Given the description of an element on the screen output the (x, y) to click on. 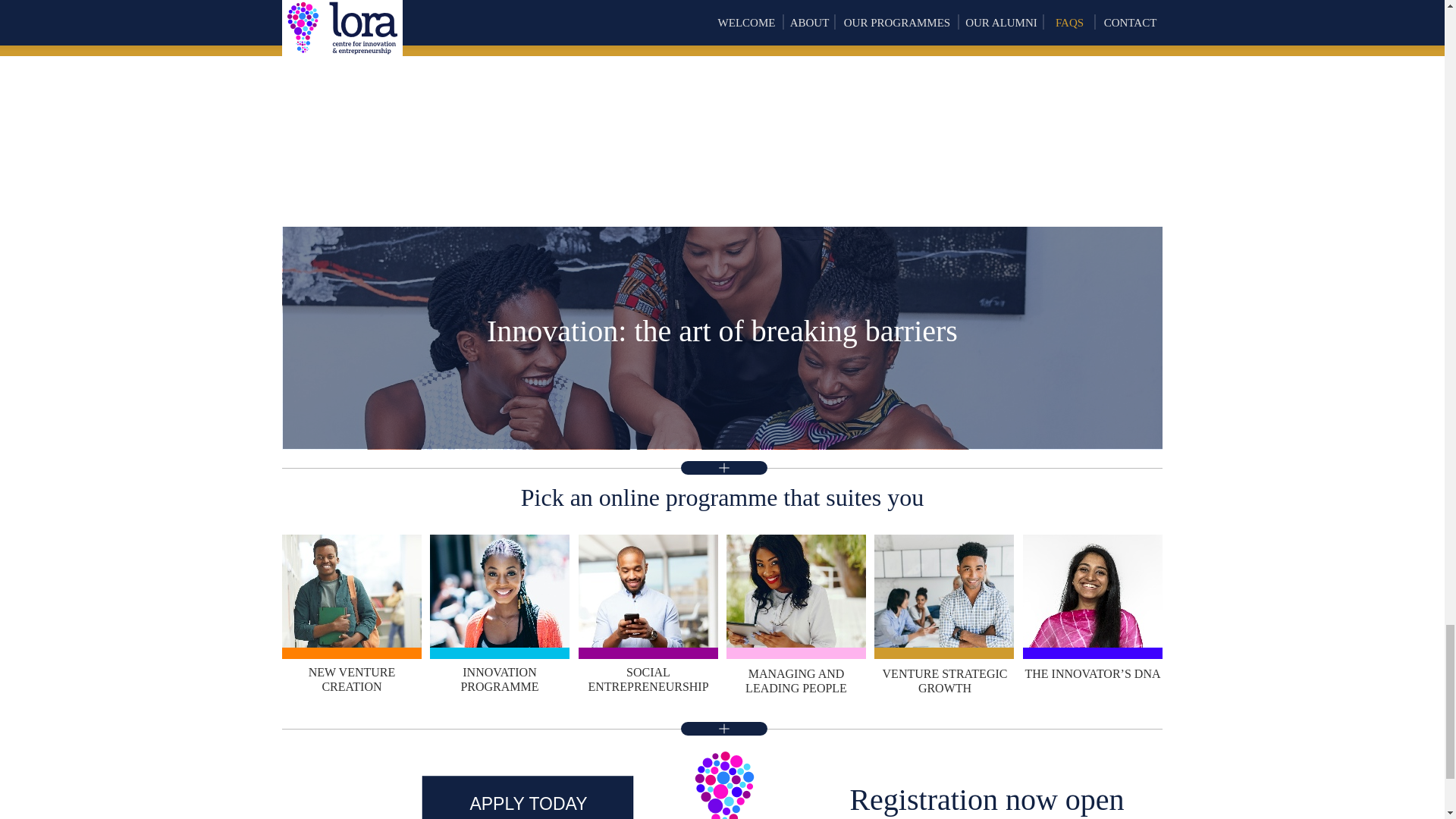
APPLY TODAY (527, 797)
